Given the description of an element on the screen output the (x, y) to click on. 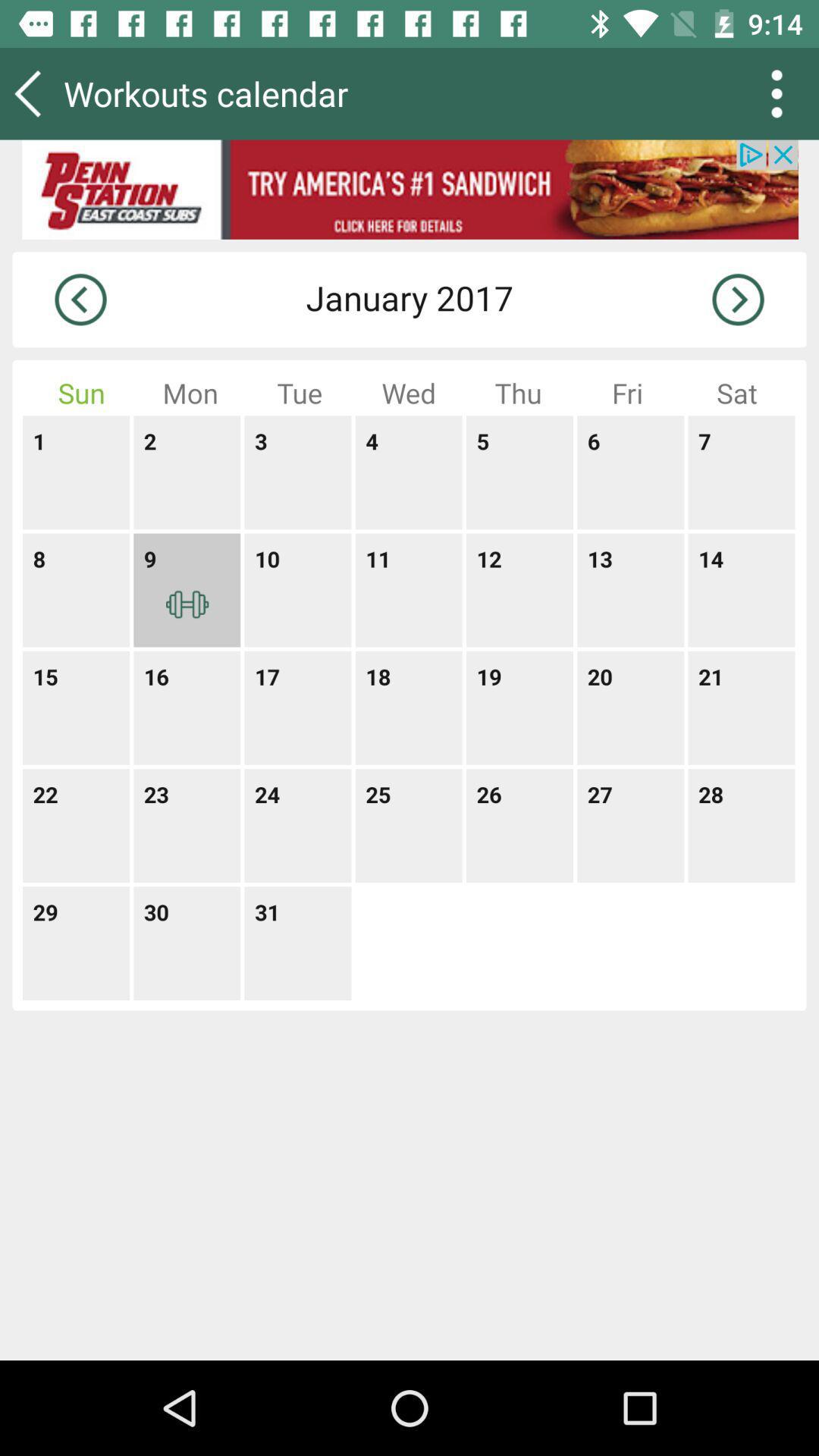
advertisement bar (409, 189)
